Given the description of an element on the screen output the (x, y) to click on. 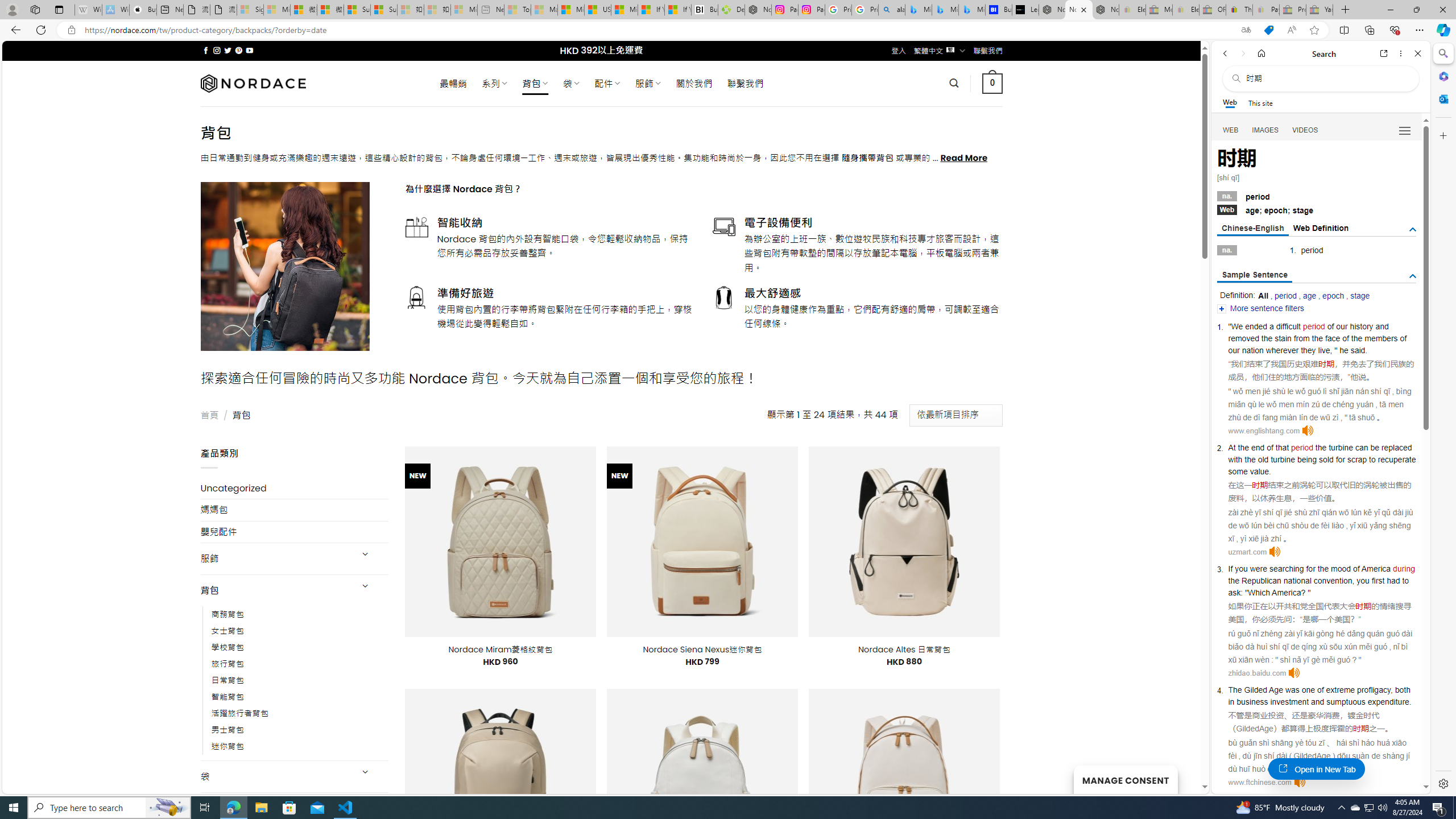
Gilded (1254, 689)
: (1241, 592)
end (1257, 447)
were (1257, 568)
